Given the description of an element on the screen output the (x, y) to click on. 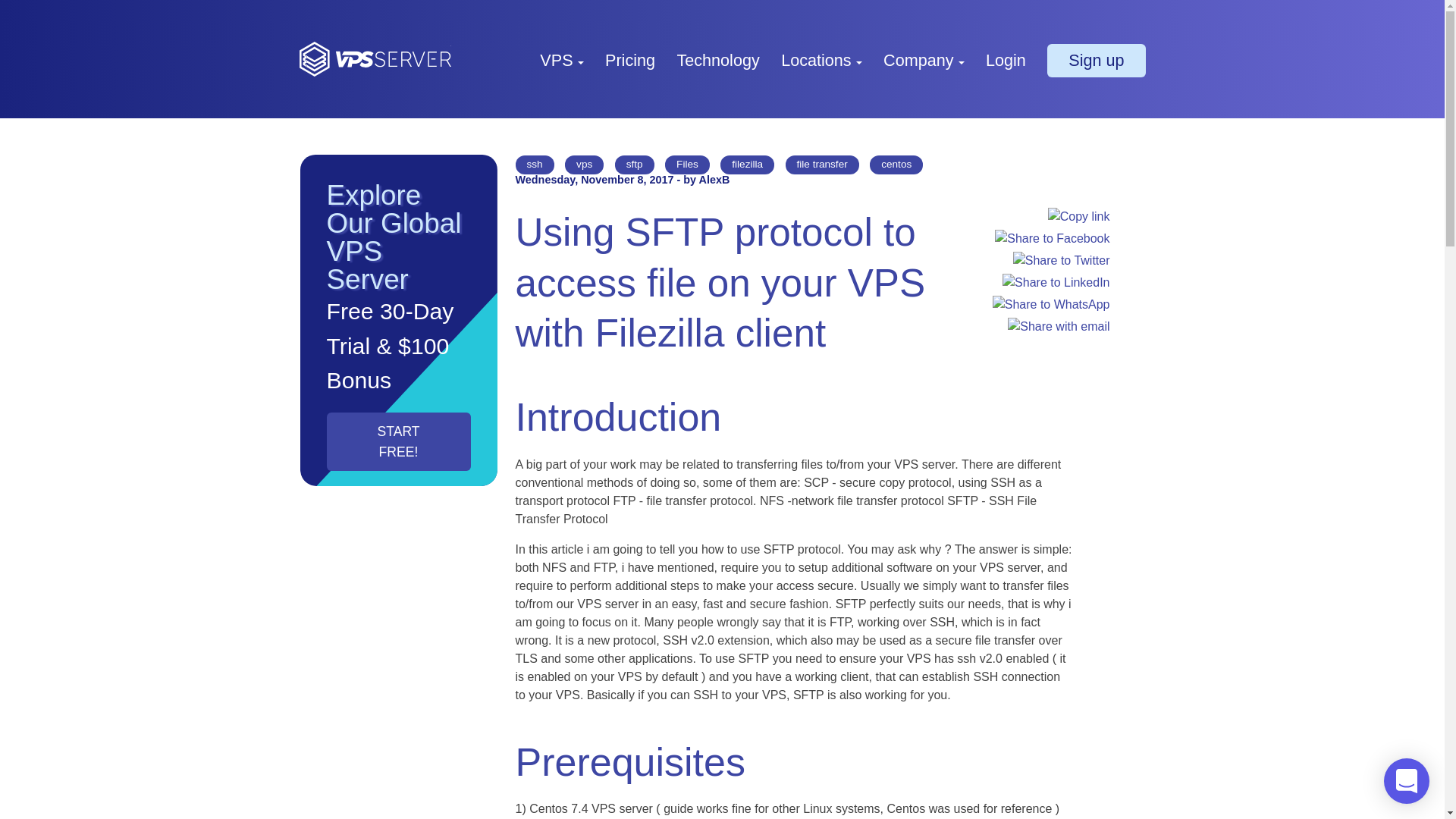
VPS (561, 59)
VPSServer.com (373, 58)
Company (923, 59)
Technology (717, 59)
Pricing (630, 59)
Locations (820, 59)
